Given the description of an element on the screen output the (x, y) to click on. 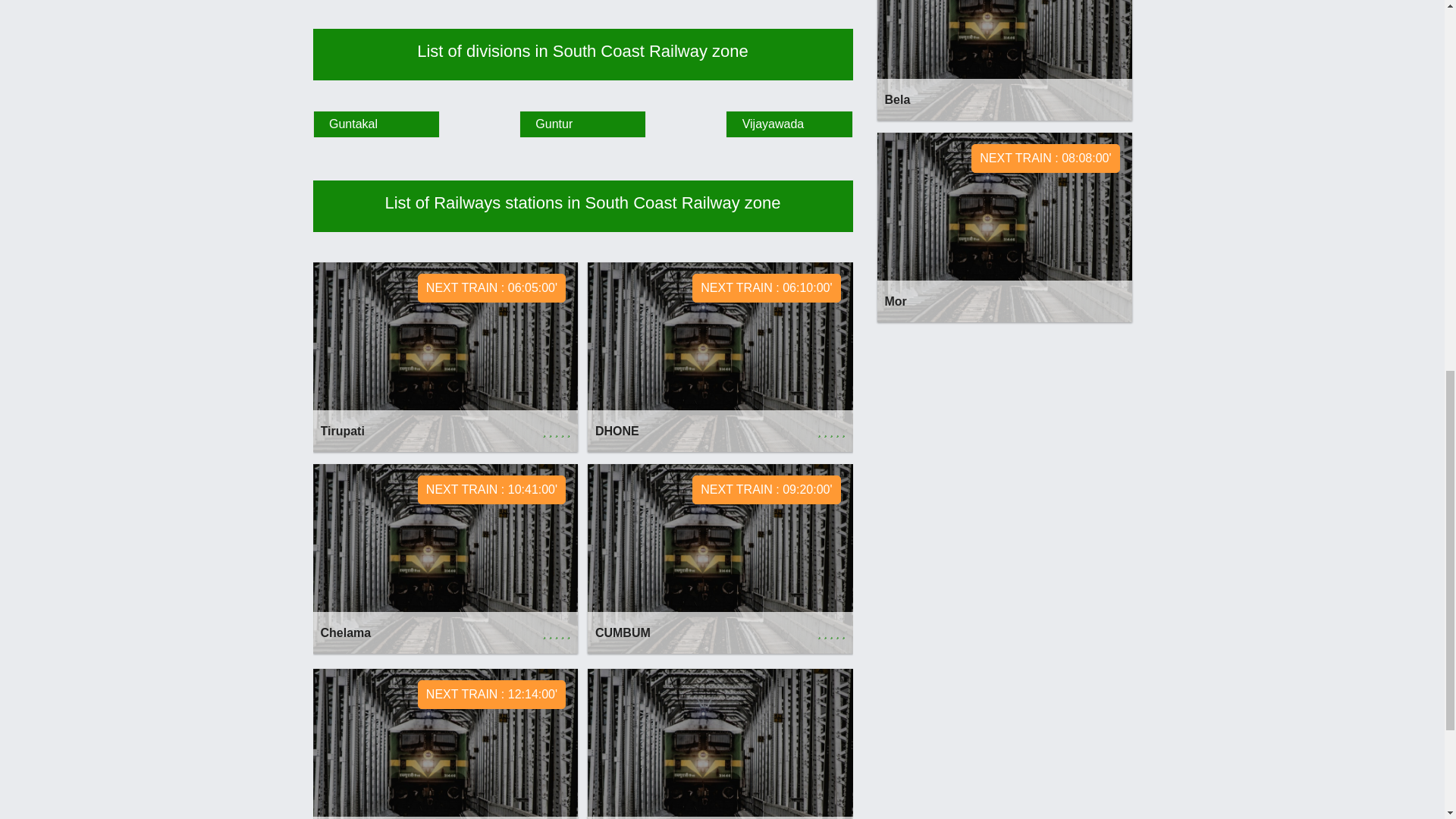
 Vijayawada (788, 124)
 Guntur (1003, 60)
 Guntakal (445, 744)
  Isivi (445, 558)
